Given the description of an element on the screen output the (x, y) to click on. 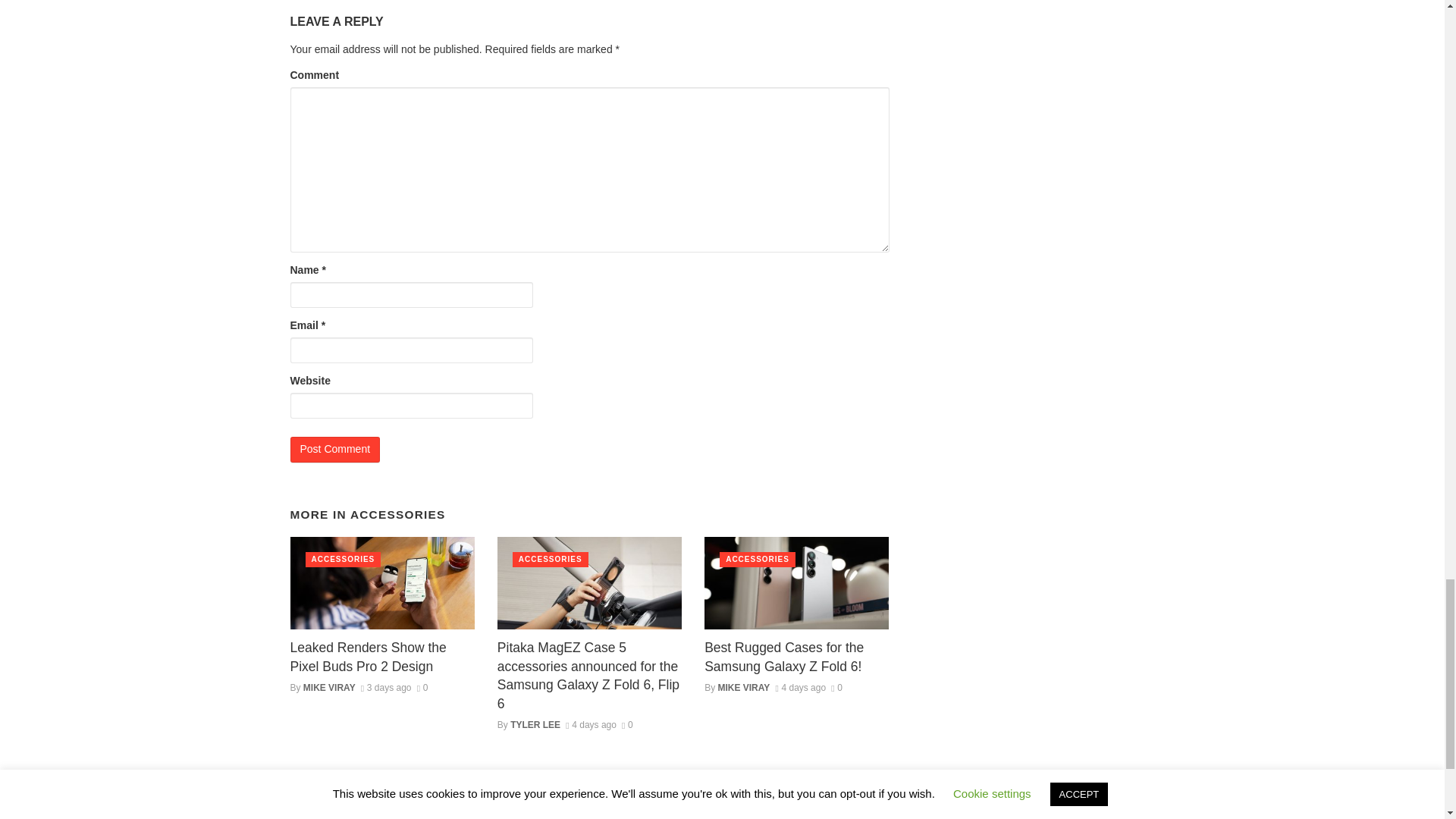
Post Comment (334, 449)
